Given the description of an element on the screen output the (x, y) to click on. 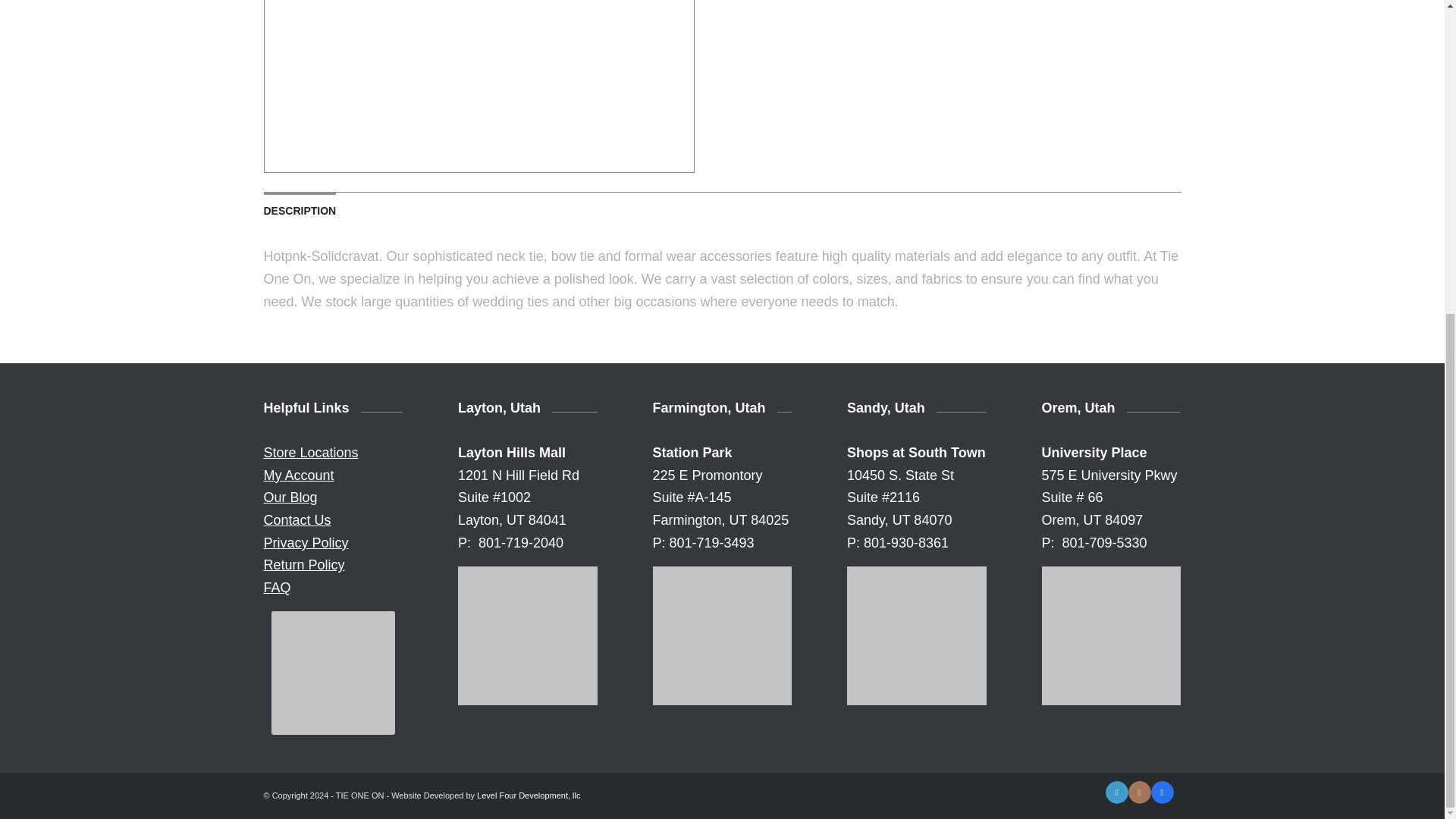
LinkedIn (1116, 792)
The-shops (917, 635)
tieoneon (1111, 635)
59 X 3.25 inch Footballs (332, 672)
Facebook (1162, 792)
station-park (722, 635)
layton-hills (527, 635)
Instagram (1139, 792)
